Given the description of an element on the screen output the (x, y) to click on. 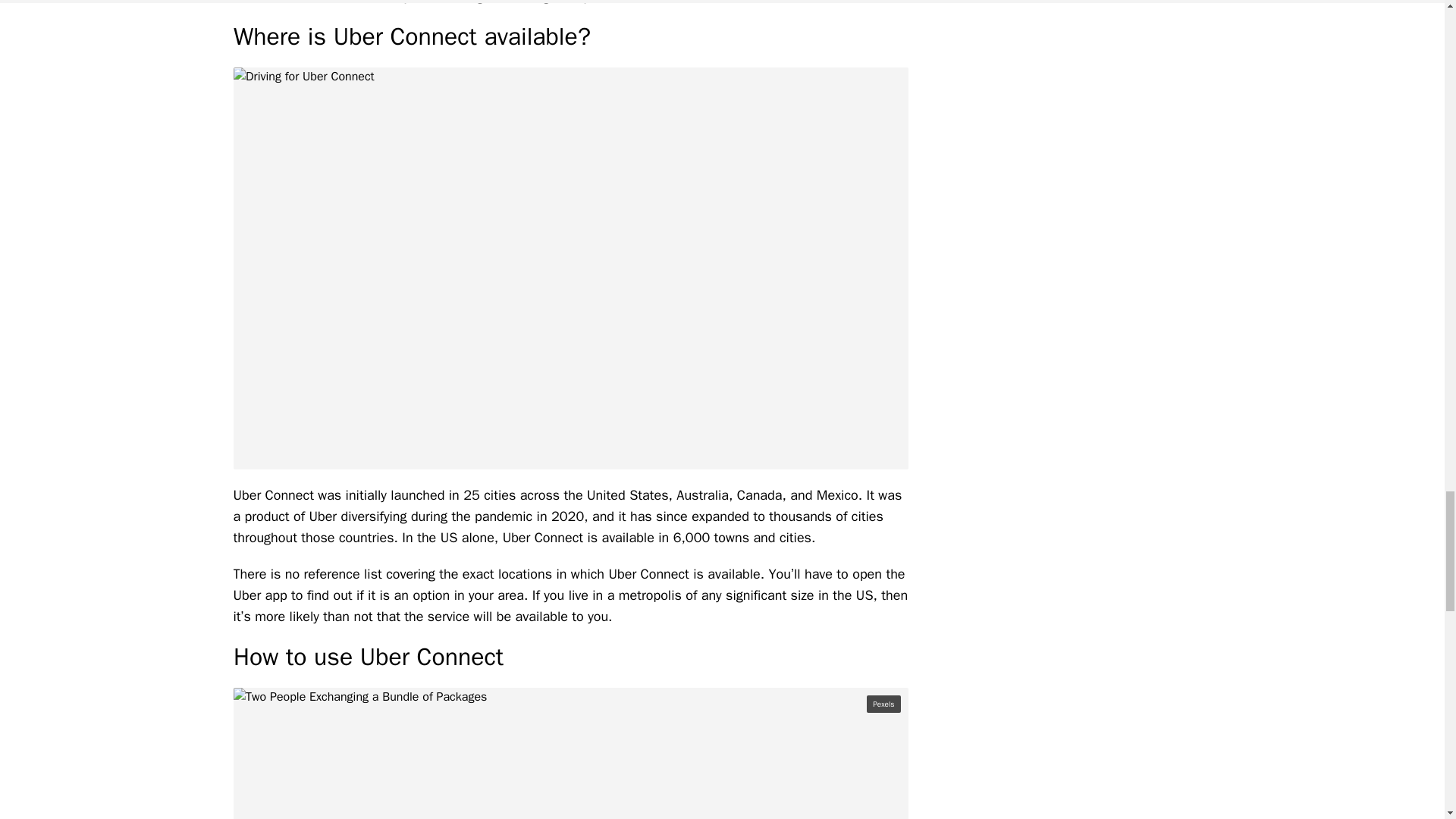
Pexels (882, 703)
Two People Exchanging a Bundle of Packages (570, 753)
